Given the description of an element on the screen output the (x, y) to click on. 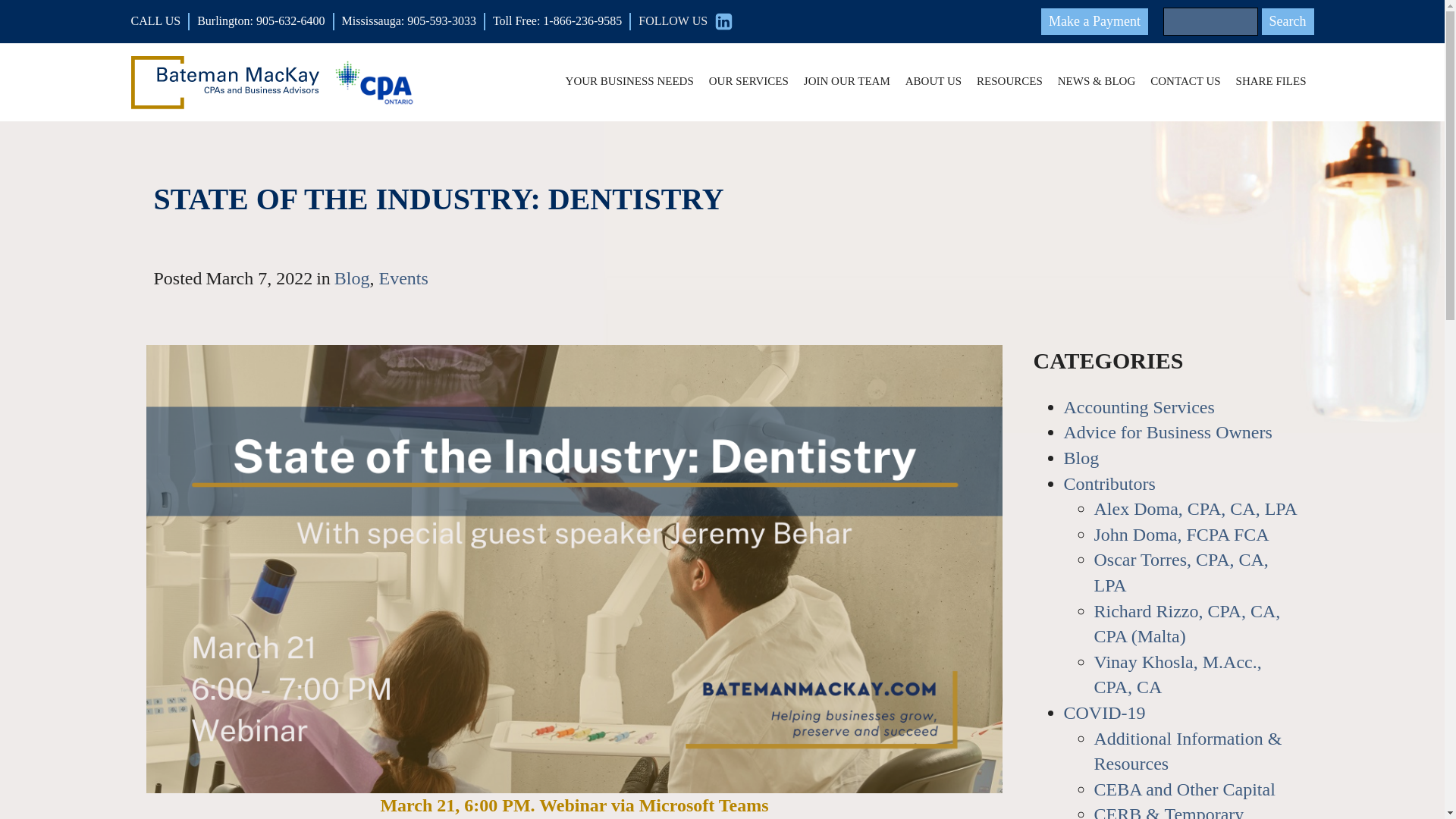
Search (1288, 21)
FOLLOW US  (686, 21)
Mississauga: 905-593-3033 (413, 21)
ABOUT US (933, 82)
YOUR BUSINESS NEEDS (629, 82)
RESOURCES (1009, 82)
Make a Payment (1094, 21)
Toll Free: 1-866-236-9585 (561, 21)
OUR SERVICES (748, 82)
Search (1288, 21)
